Given the description of an element on the screen output the (x, y) to click on. 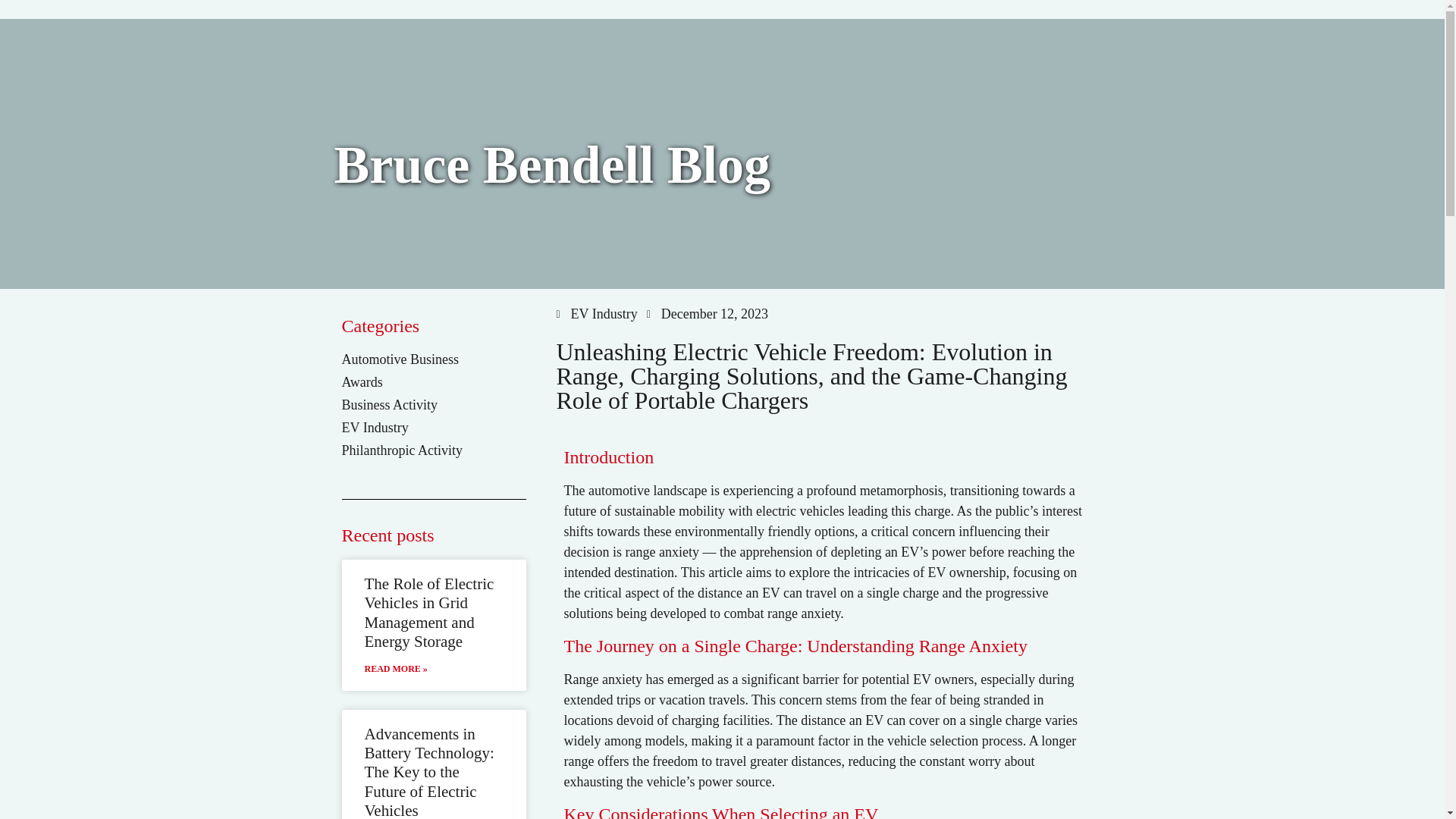
Awards (360, 381)
EV Industry (603, 313)
Automotive Business (399, 359)
Philanthropic Activity  (402, 450)
EV Industry (373, 427)
Business Activity (389, 404)
December 12, 2023 (707, 313)
